Given the description of an element on the screen output the (x, y) to click on. 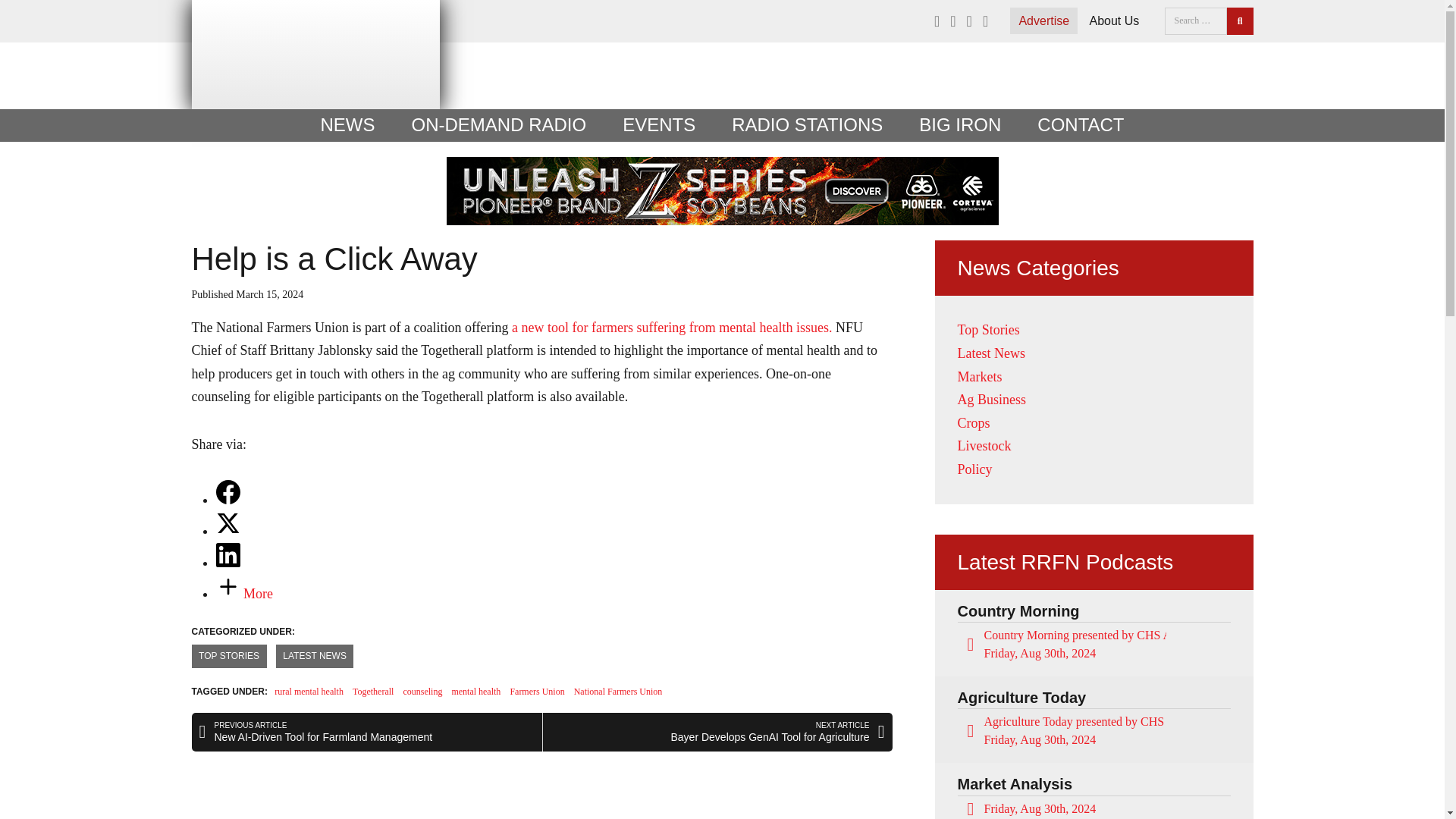
Top Stories (987, 329)
EVENTS (658, 124)
Policy (973, 468)
National Farmers Union (617, 691)
mental health (475, 691)
counseling (422, 691)
More (244, 593)
TOP STORIES (228, 656)
About Us (1113, 20)
Livestock (983, 445)
